Given the description of an element on the screen output the (x, y) to click on. 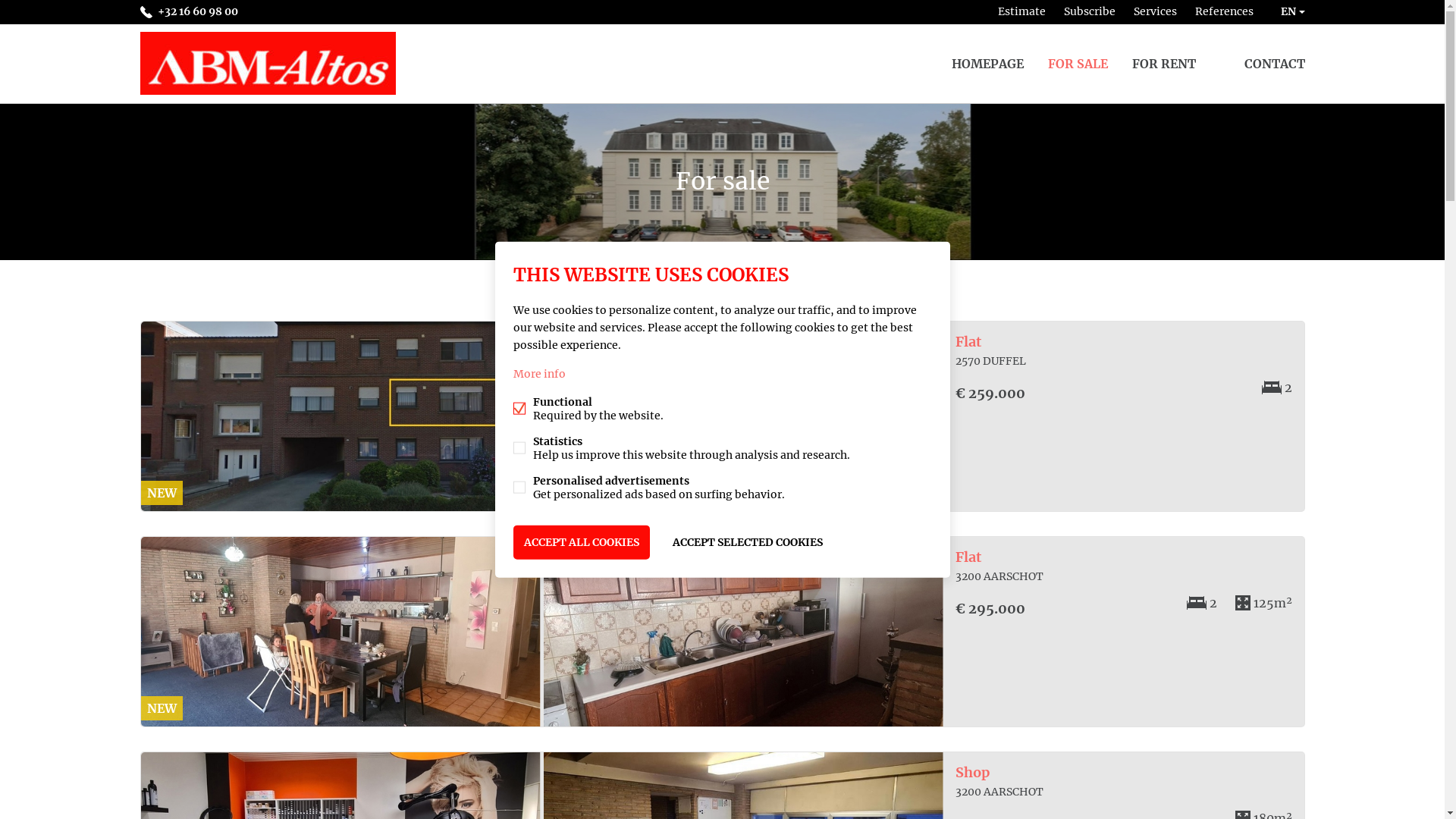
More info Element type: text (538, 373)
References Element type: text (1224, 12)
+32 16 60 98 00 Element type: text (188, 12)
Estimate Element type: text (1021, 12)
HOMEPAGE Element type: text (986, 63)
FOR SALE Element type: text (1077, 63)
Subscribe Element type: text (1088, 12)
ACCEPT SELECTED COOKIES Element type: text (746, 542)
Services Element type: text (1154, 12)
FOR RENT Element type: text (1163, 63)
CONTACT Element type: text (1273, 63)
ACCEPT ALL COOKIES Element type: text (580, 542)
